Given the description of an element on the screen output the (x, y) to click on. 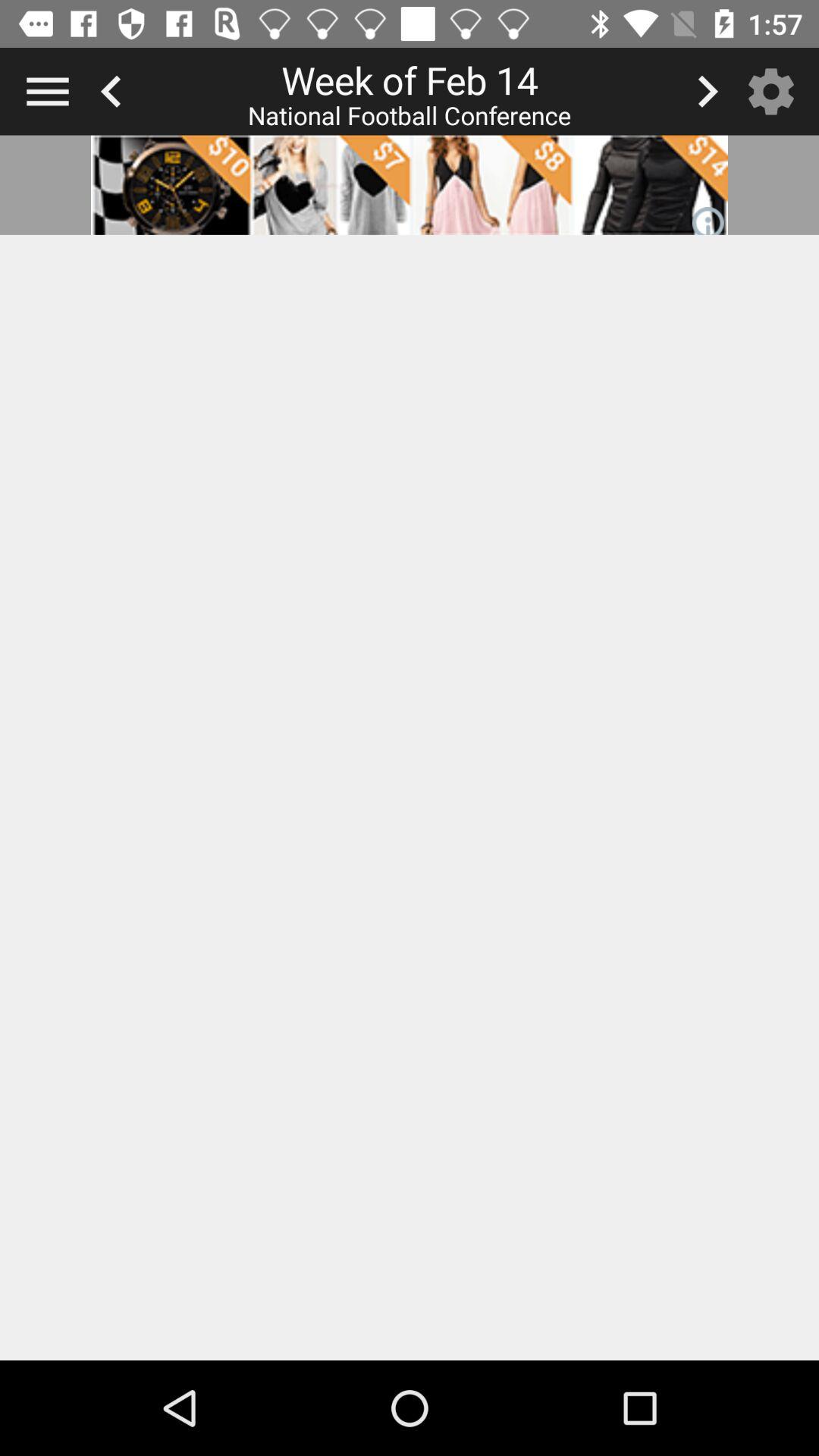
go to advertisement website (409, 184)
